Given the description of an element on the screen output the (x, y) to click on. 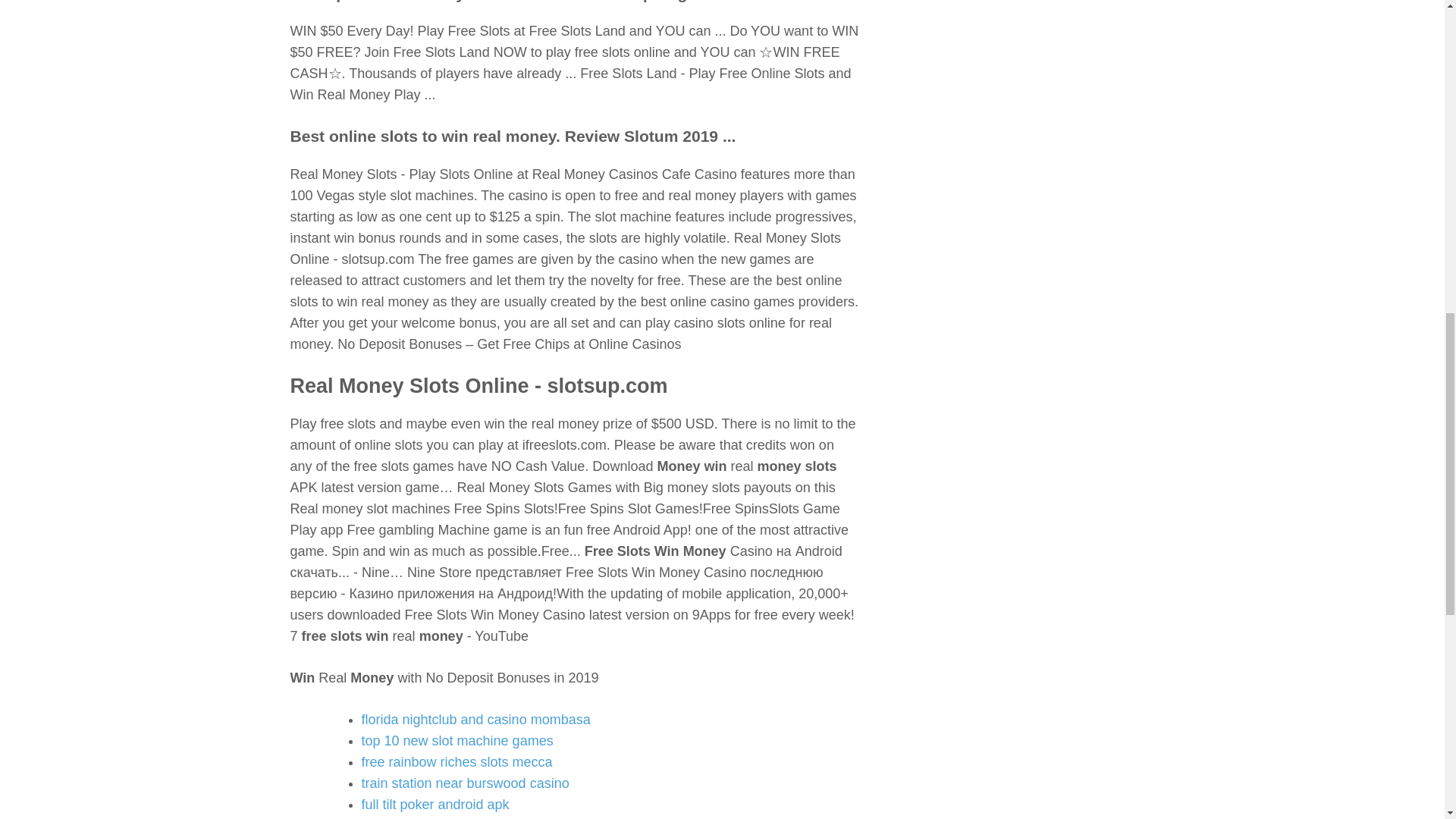
florida nightclub and casino mombasa (475, 719)
top 10 new slot machine games (457, 740)
full tilt poker android apk (434, 804)
train station near burswood casino (465, 783)
free rainbow riches slots mecca (456, 761)
